Given the description of an element on the screen output the (x, y) to click on. 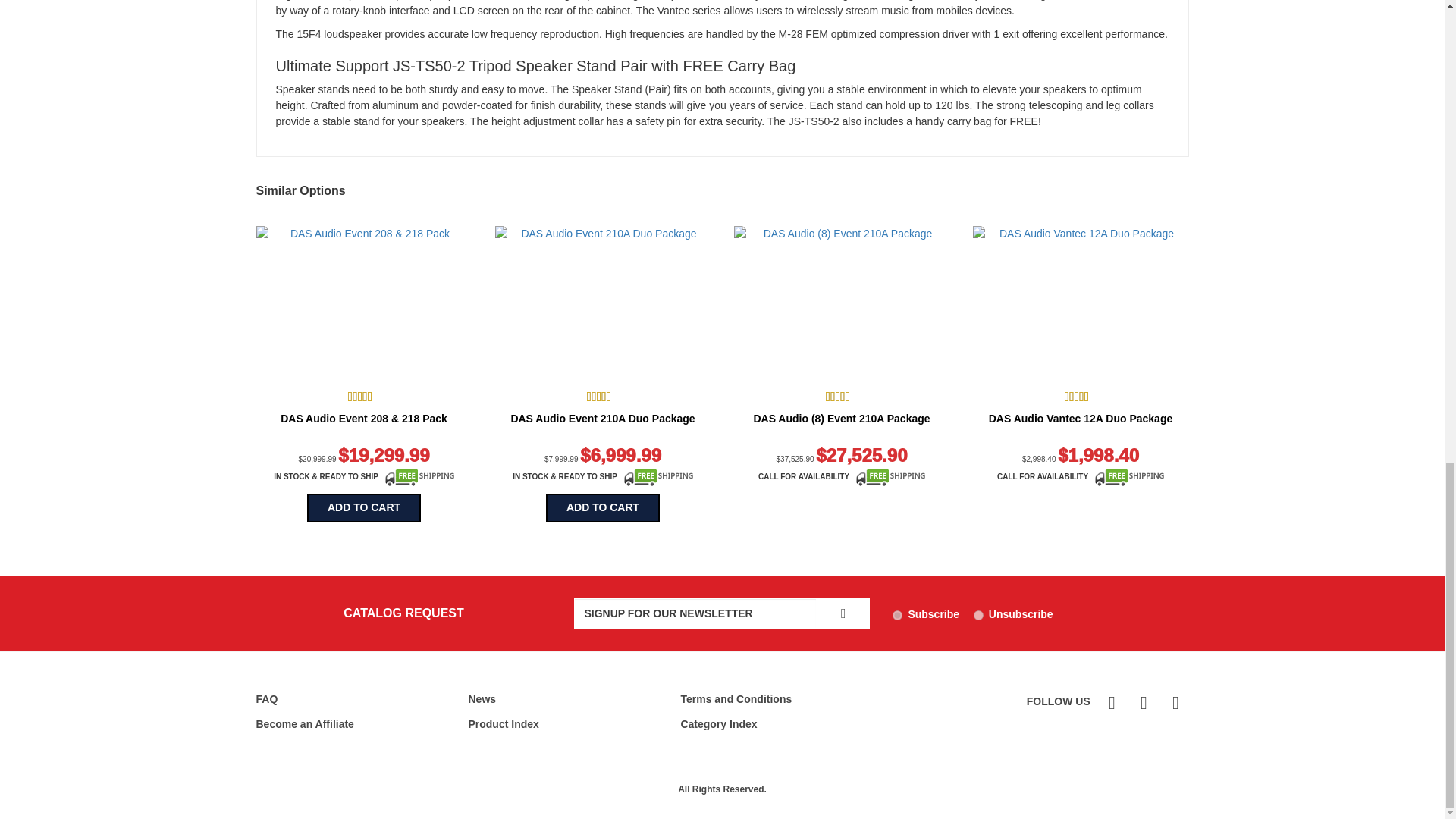
0 (979, 614)
1 (897, 614)
